Given the description of an element on the screen output the (x, y) to click on. 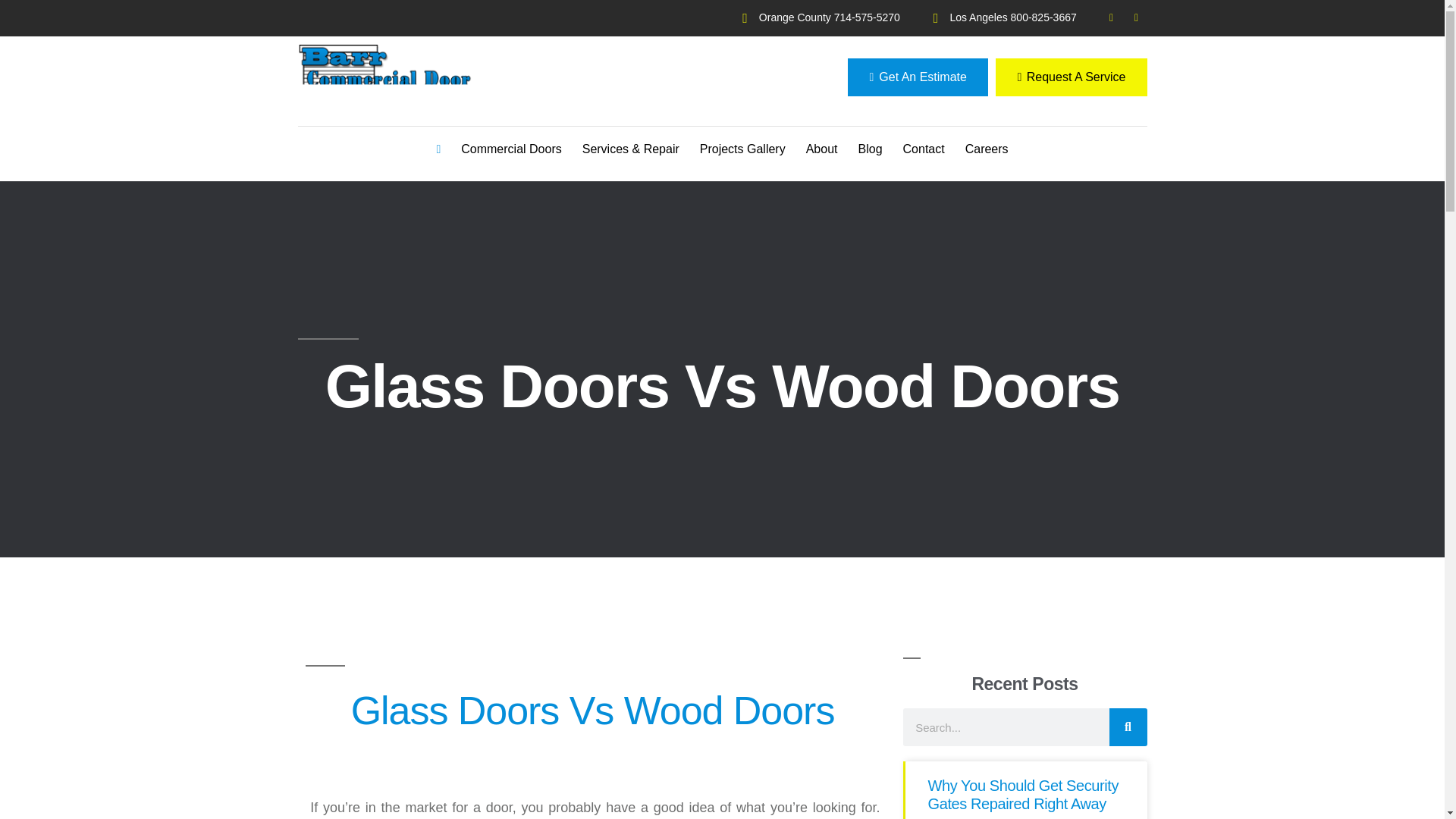
Projects Gallery (742, 149)
About (822, 149)
Request A Service (1071, 77)
Commercial Doors (511, 149)
Contact (923, 149)
Careers (986, 149)
Get An Estimate (917, 77)
Blog (869, 149)
